Given the description of an element on the screen output the (x, y) to click on. 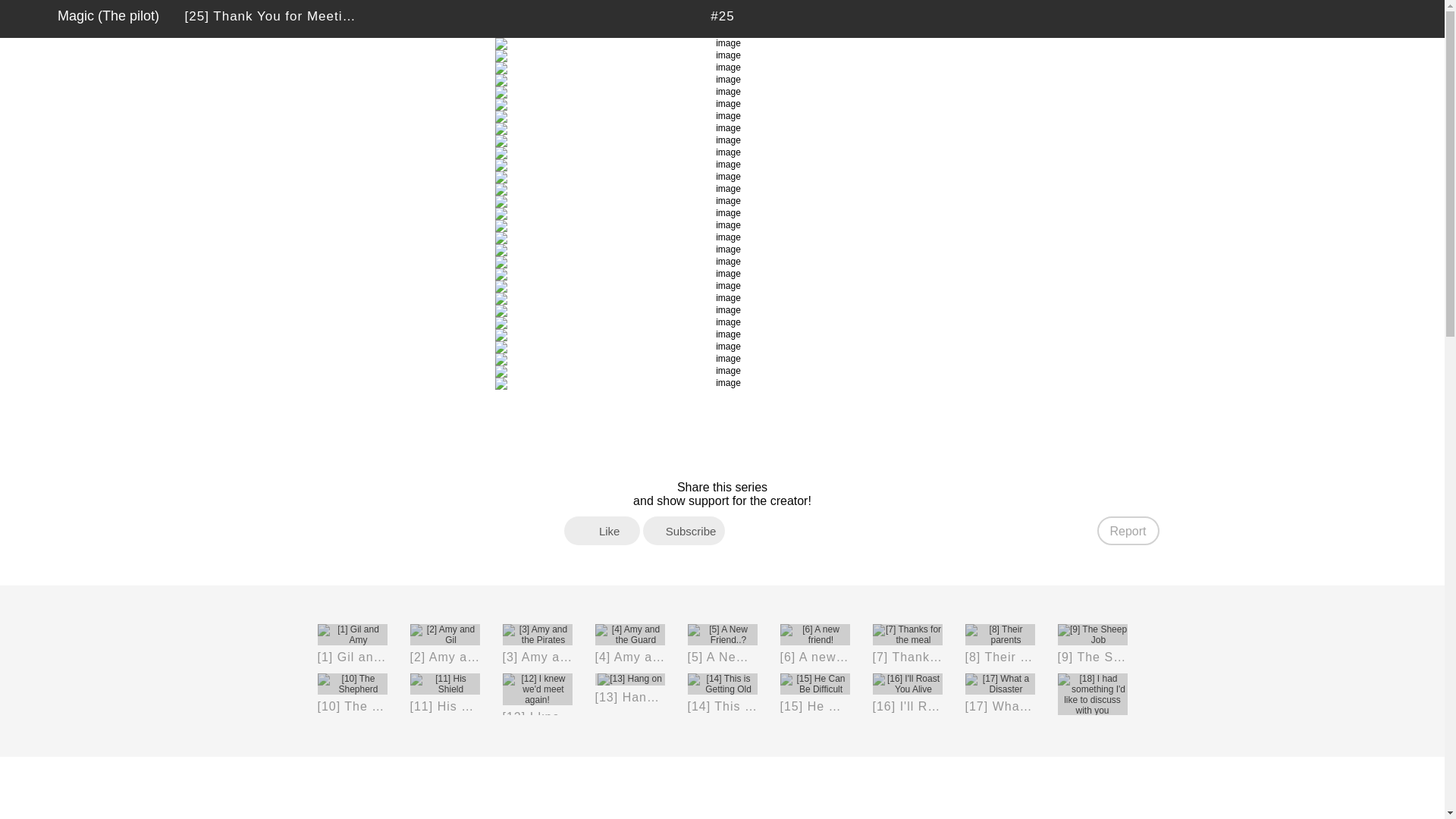
Facebook (1368, 18)
Next Episode (760, 18)
Previous Episode (686, 18)
Subscribe (1342, 18)
WEBTOON (28, 18)
Twitter (1395, 18)
Subscribe (684, 530)
URL COPY (865, 530)
Tumblr (804, 530)
Facebook (741, 530)
